Given the description of an element on the screen output the (x, y) to click on. 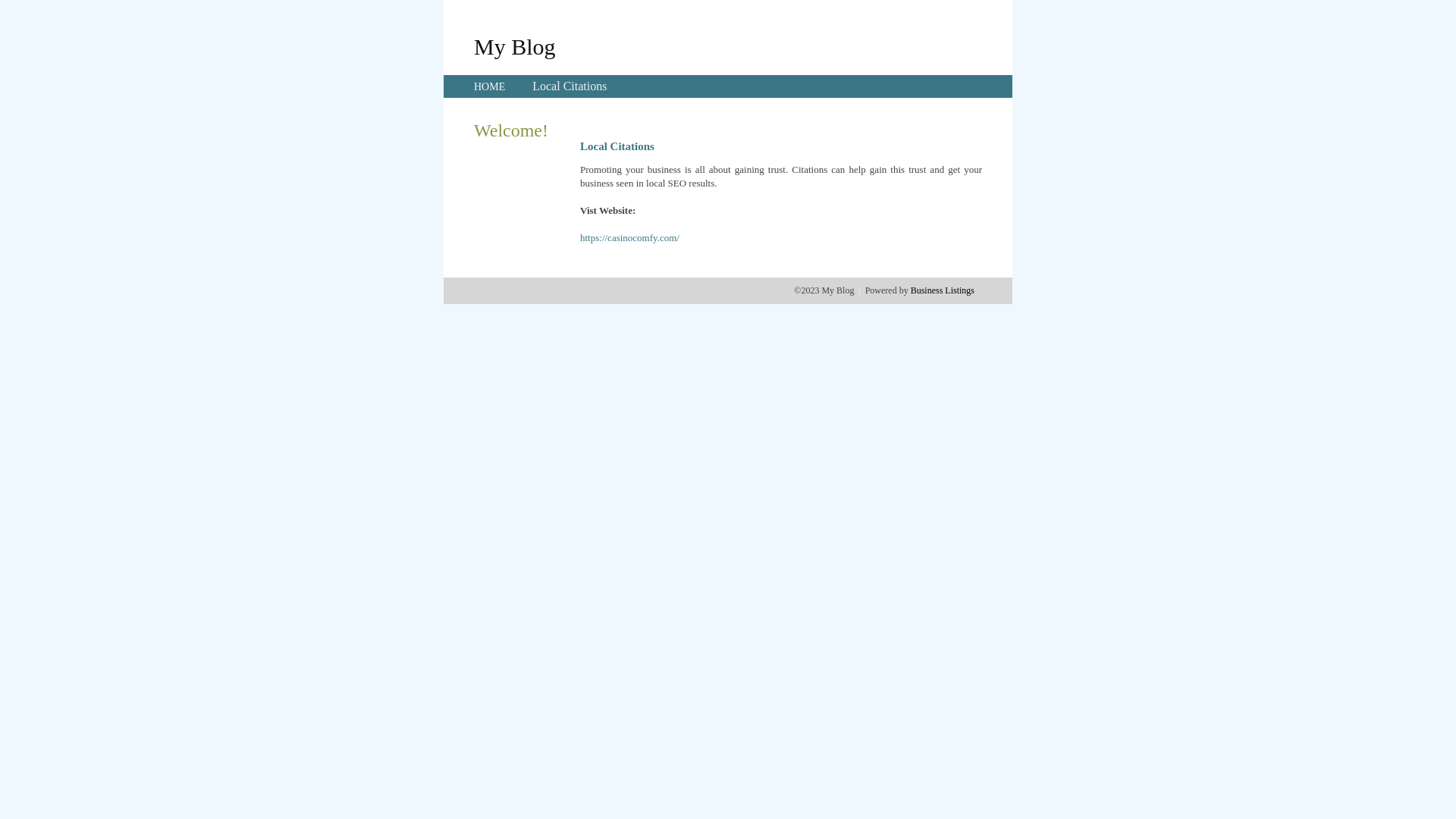
https://casinocomfy.com/ Element type: text (629, 237)
Local Citations Element type: text (569, 85)
HOME Element type: text (489, 86)
Business Listings Element type: text (942, 290)
My Blog Element type: text (514, 46)
